Given the description of an element on the screen output the (x, y) to click on. 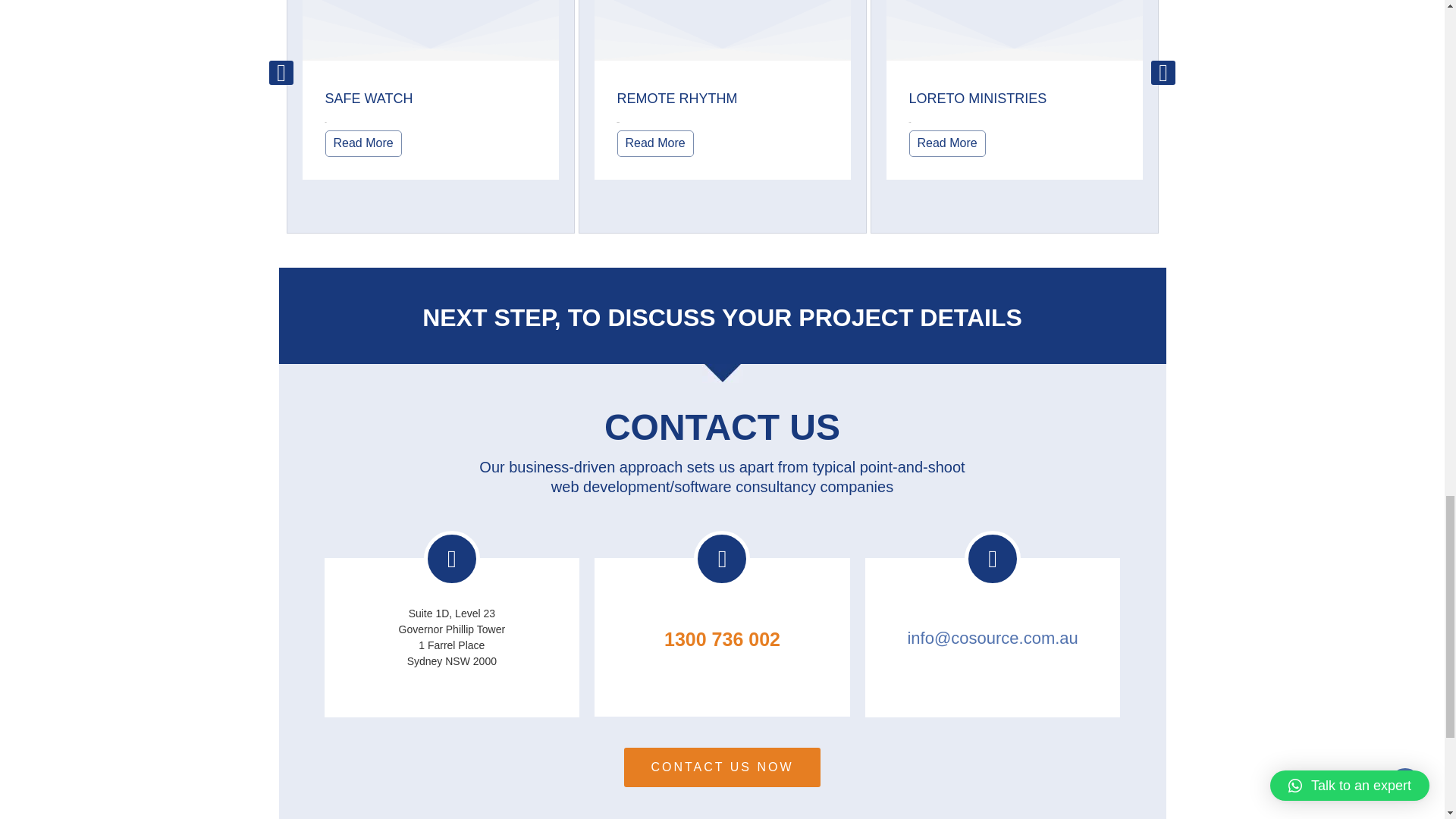
REMOTE RHYTHM (677, 98)
LORETO MINISTRIES (977, 98)
Read More (362, 143)
Read More (655, 143)
SAFE WATCH (368, 98)
Read More (946, 143)
